Given the description of an element on the screen output the (x, y) to click on. 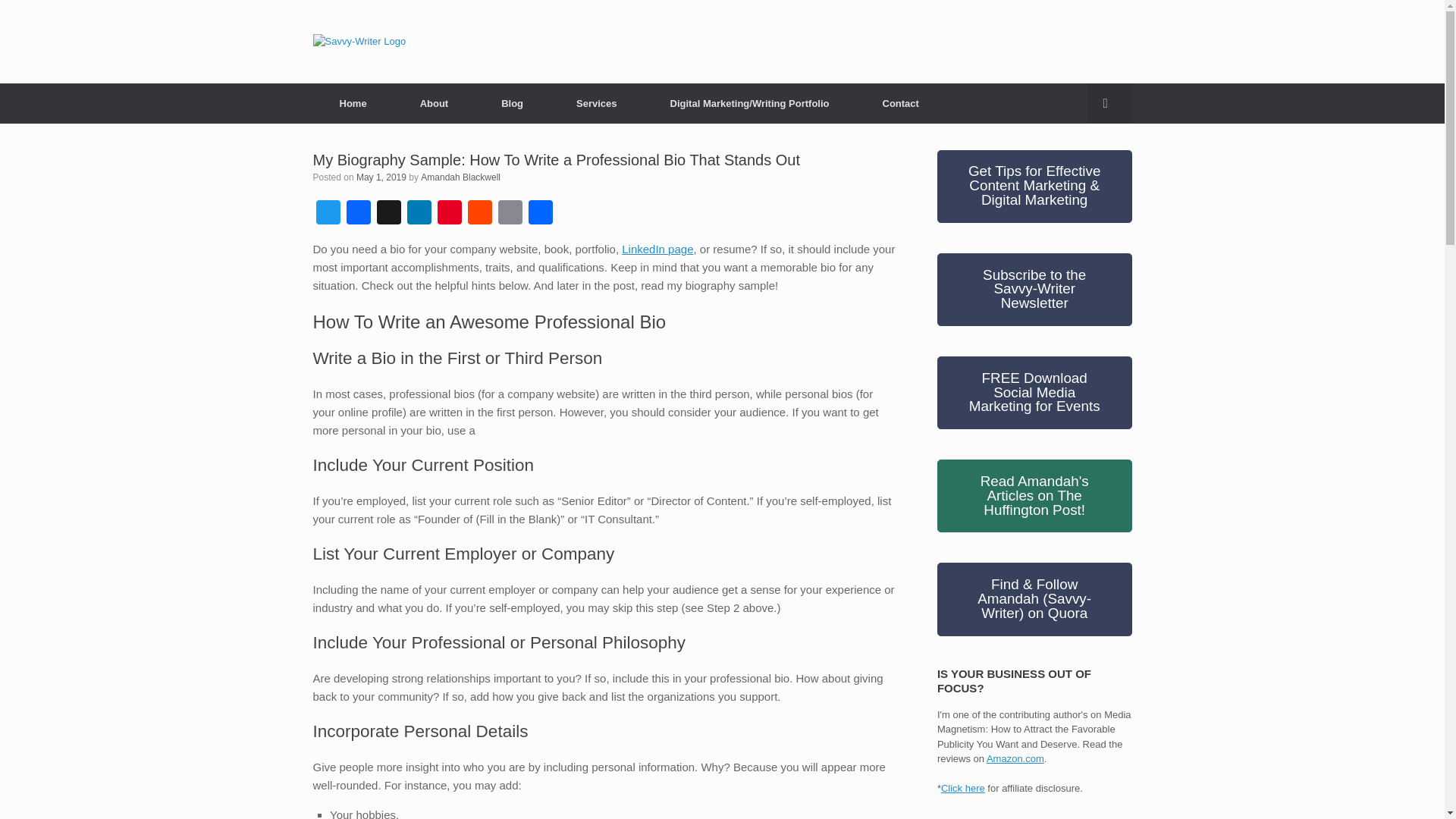
May 1, 2019 (381, 176)
Pinterest (448, 213)
Facebook (357, 213)
Buffer (387, 213)
Twitter (327, 213)
LinkedIn (418, 213)
LinkedIn (418, 213)
Email (509, 213)
Buffer (387, 213)
LinkedIn page (657, 248)
